Given the description of an element on the screen output the (x, y) to click on. 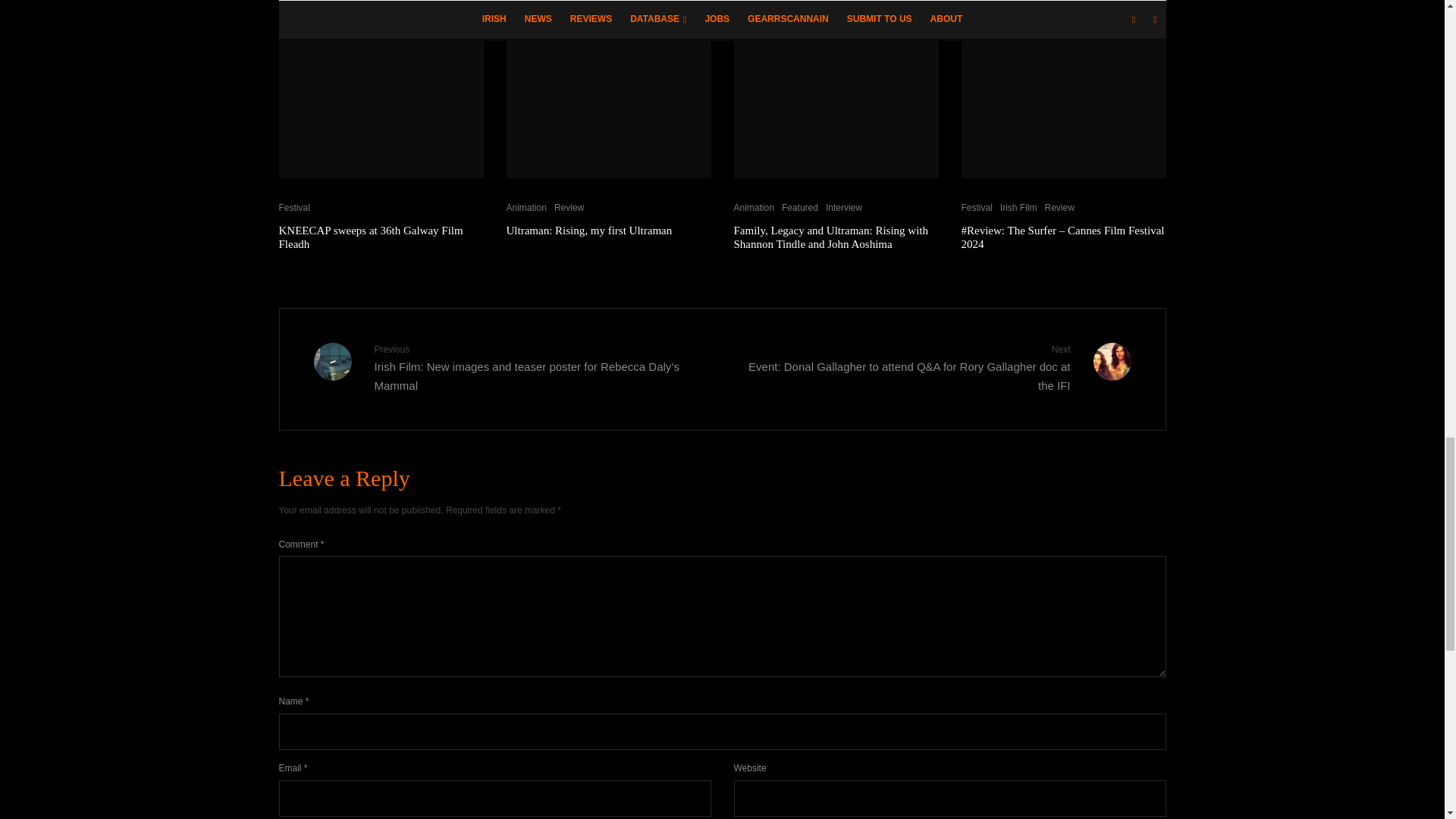
Screenshot (836, 89)
The Surfer (1063, 89)
